Given the description of an element on the screen output the (x, y) to click on. 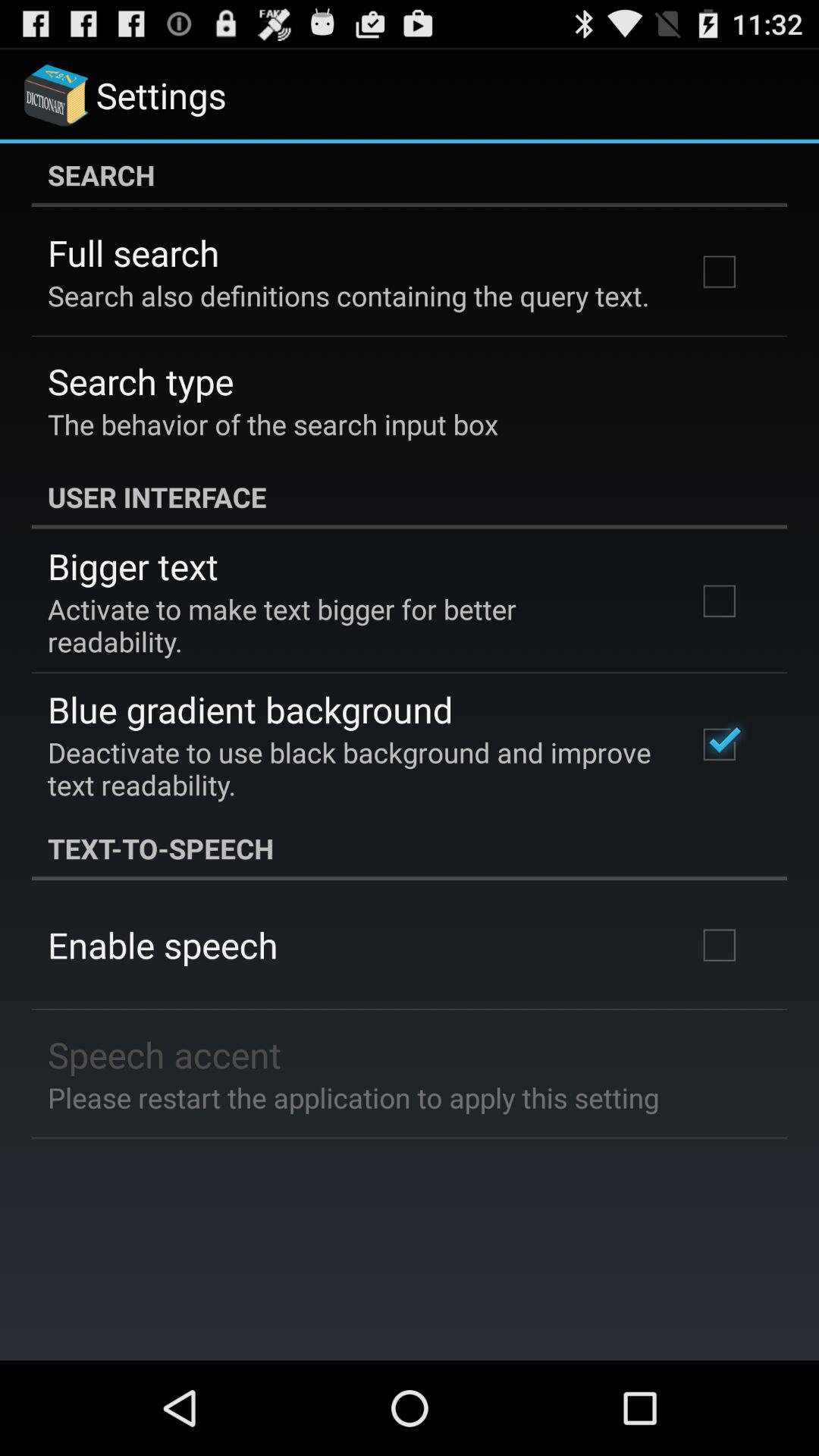
scroll to deactivate to use item (351, 768)
